Given the description of an element on the screen output the (x, y) to click on. 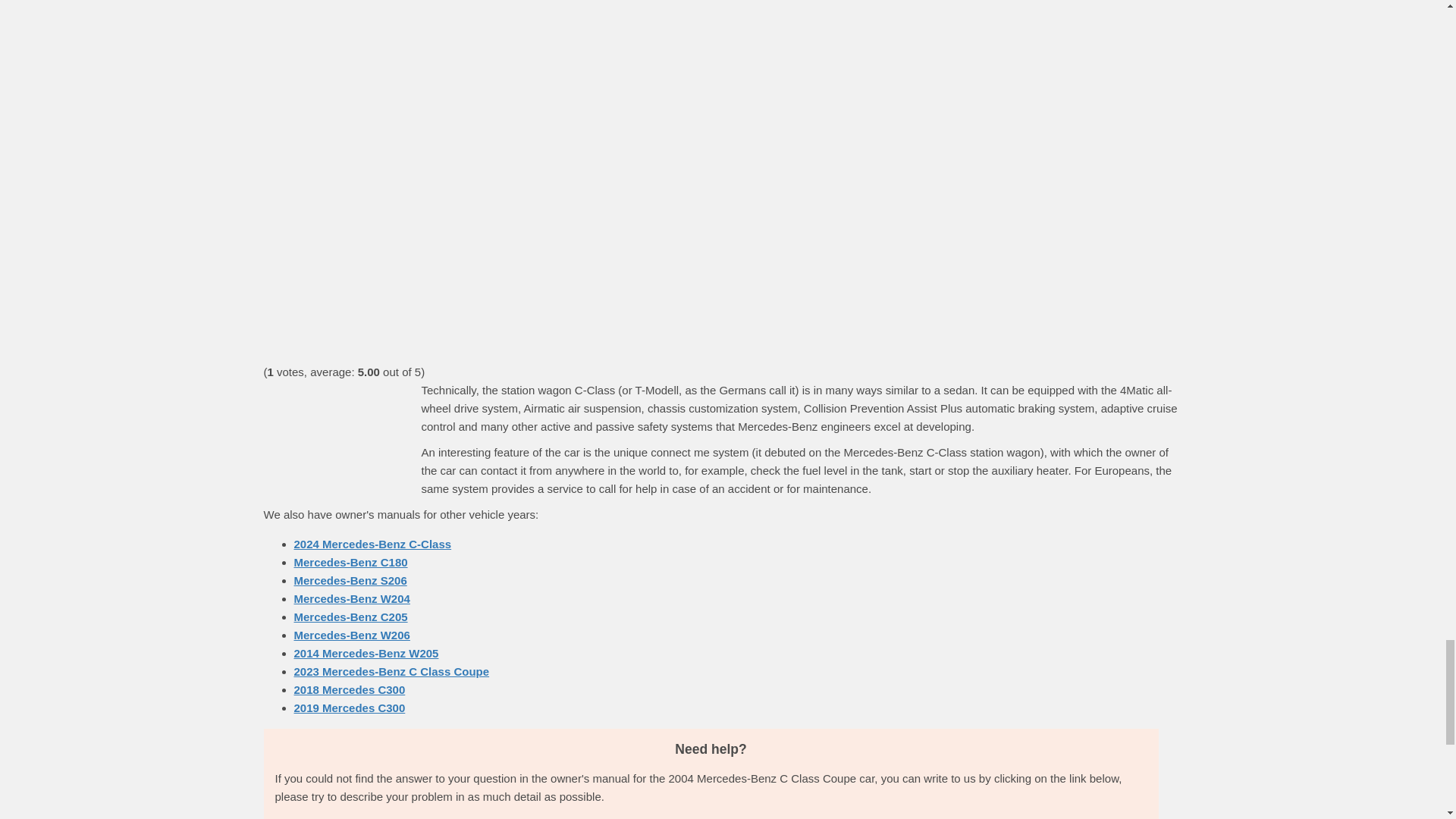
2024 Mercedes-Benz C-Class (372, 543)
Mercedes-Benz C180 (350, 562)
Mercedes-Benz W204 (352, 598)
2019 Mercedes C300 (350, 707)
Mercedes-Benz S206 (350, 580)
Mercedes-Benz C205 (350, 616)
Mercedes-Benz W206 (352, 634)
2014 Mercedes-Benz W205 (366, 653)
2018 Mercedes C300 (350, 689)
2023 Mercedes-Benz C Class Coupe (391, 671)
